Given the description of an element on the screen output the (x, y) to click on. 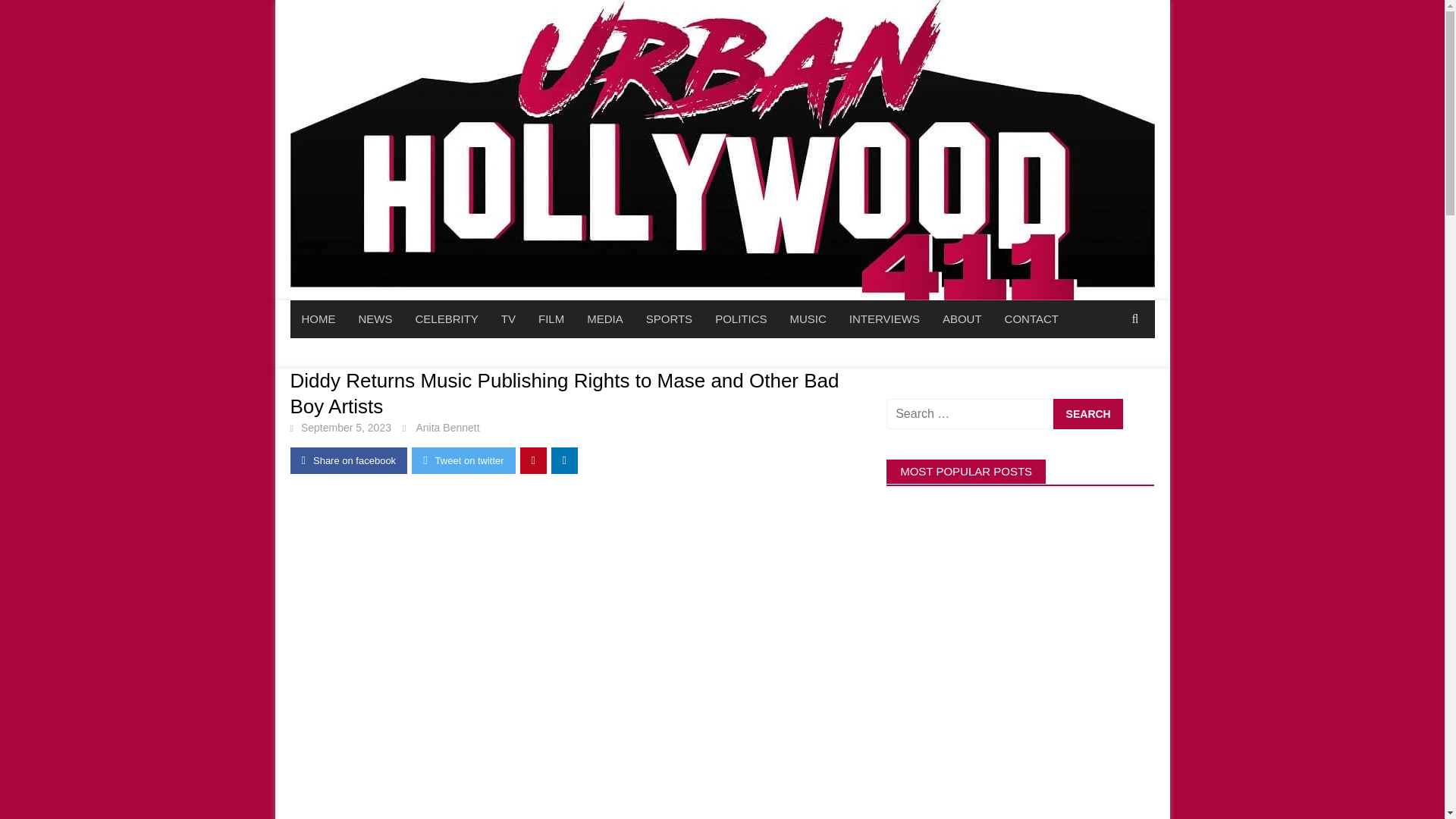
TV (508, 319)
SPORTS (668, 319)
MEDIA (604, 319)
CONTACT (1031, 319)
September 5, 2023 (346, 427)
INTERVIEWS (884, 319)
FILM (551, 319)
ABOUT (961, 319)
Tweet on twitter (463, 460)
HOME (317, 319)
POLITICS (740, 319)
Search (1087, 413)
NEWS (375, 319)
Share on facebook (348, 460)
MUSIC (807, 319)
